Given the description of an element on the screen output the (x, y) to click on. 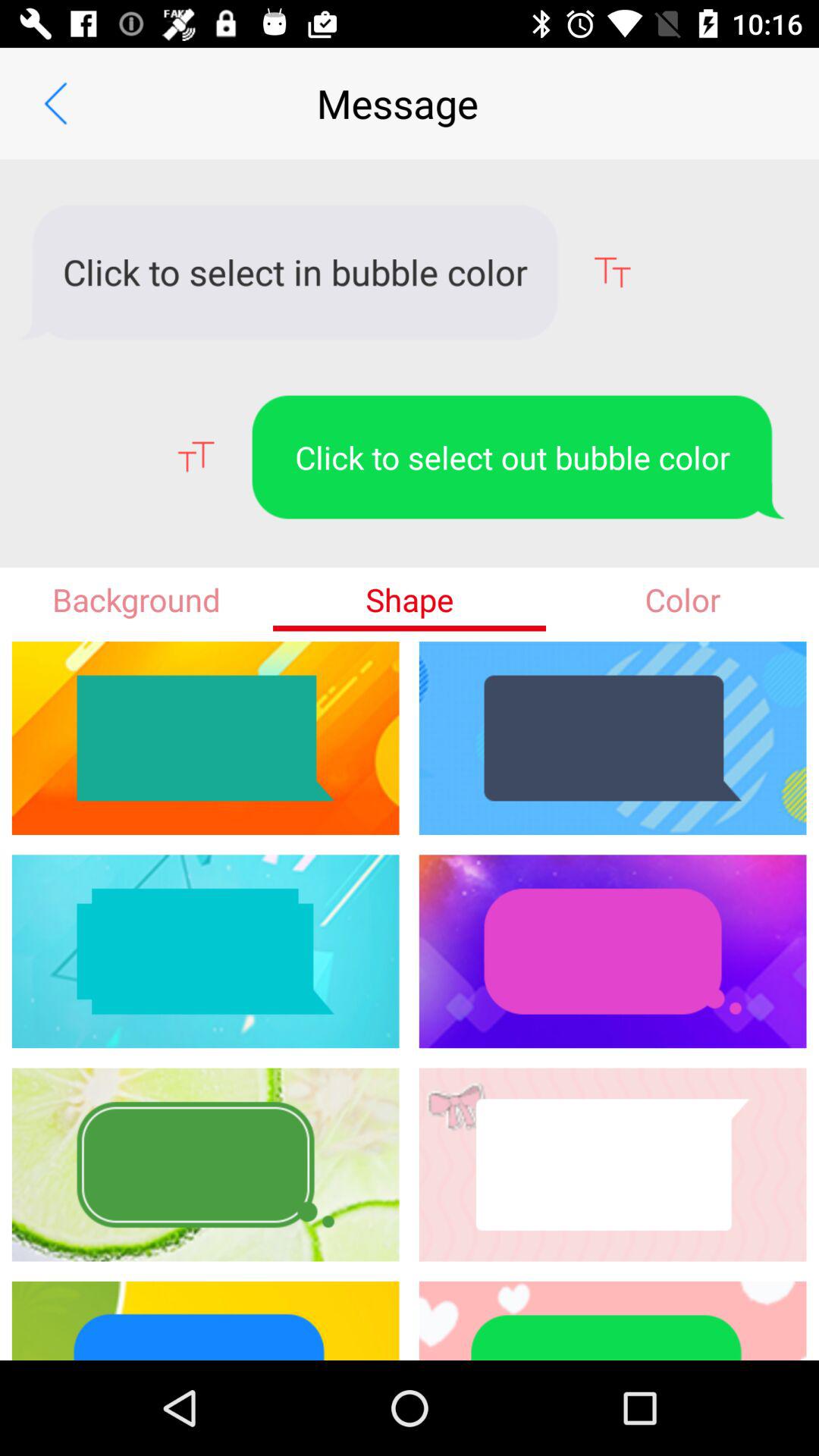
launch icon above the click to select item (55, 103)
